Given the description of an element on the screen output the (x, y) to click on. 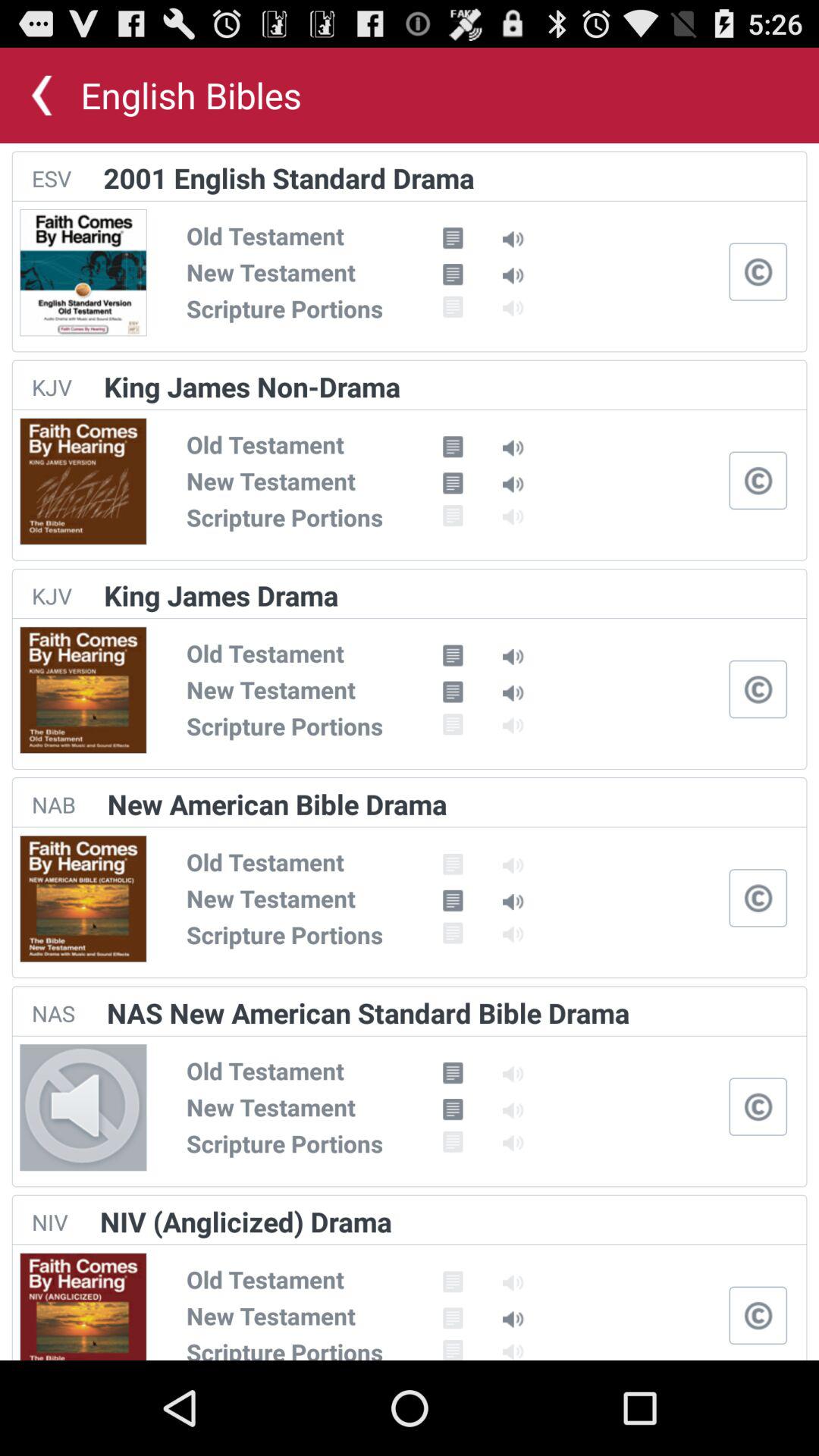
jump to niv (anglicized) drama item (245, 1221)
